Given the description of an element on the screen output the (x, y) to click on. 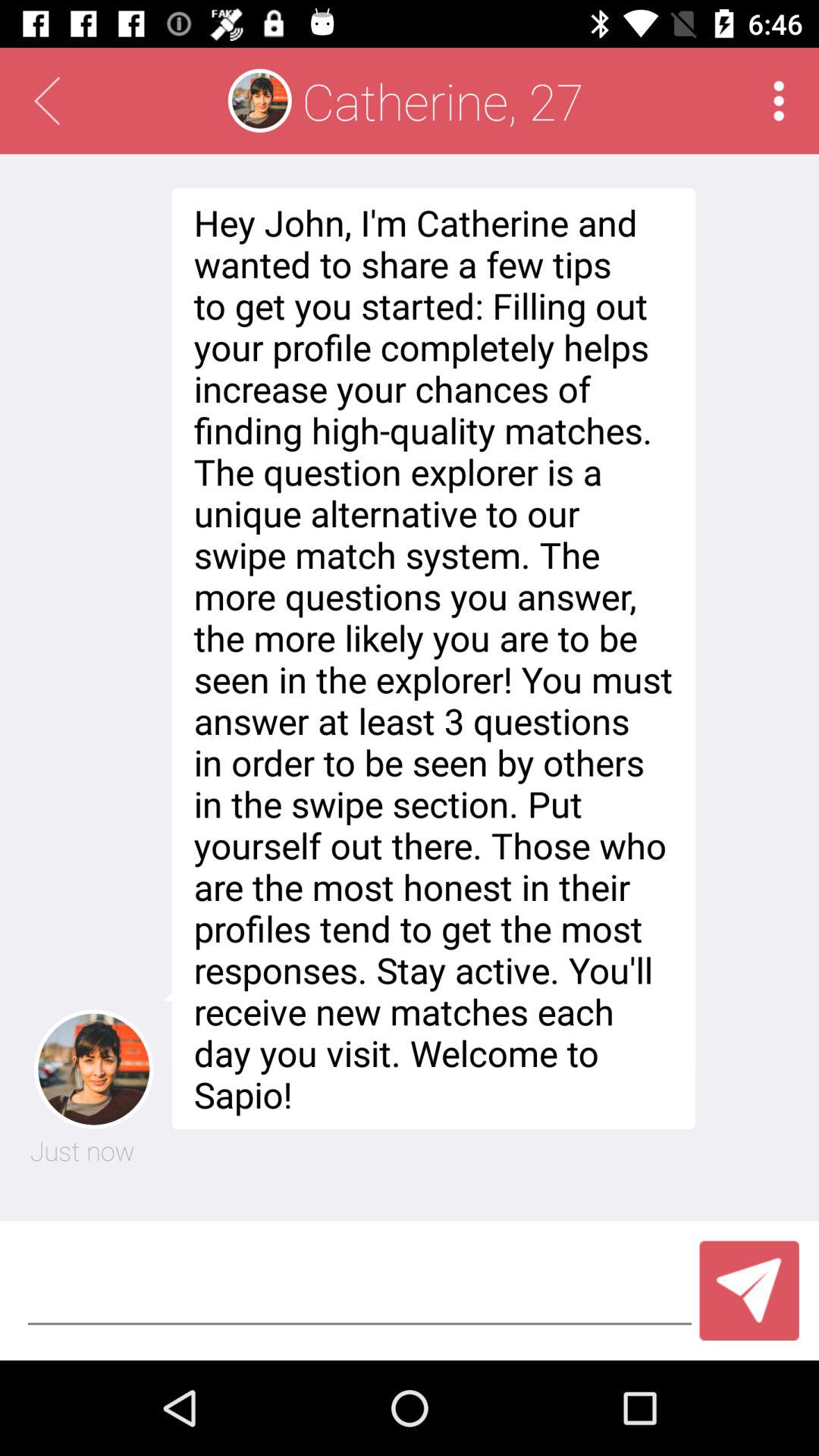
go to previous (46, 100)
